Given the description of an element on the screen output the (x, y) to click on. 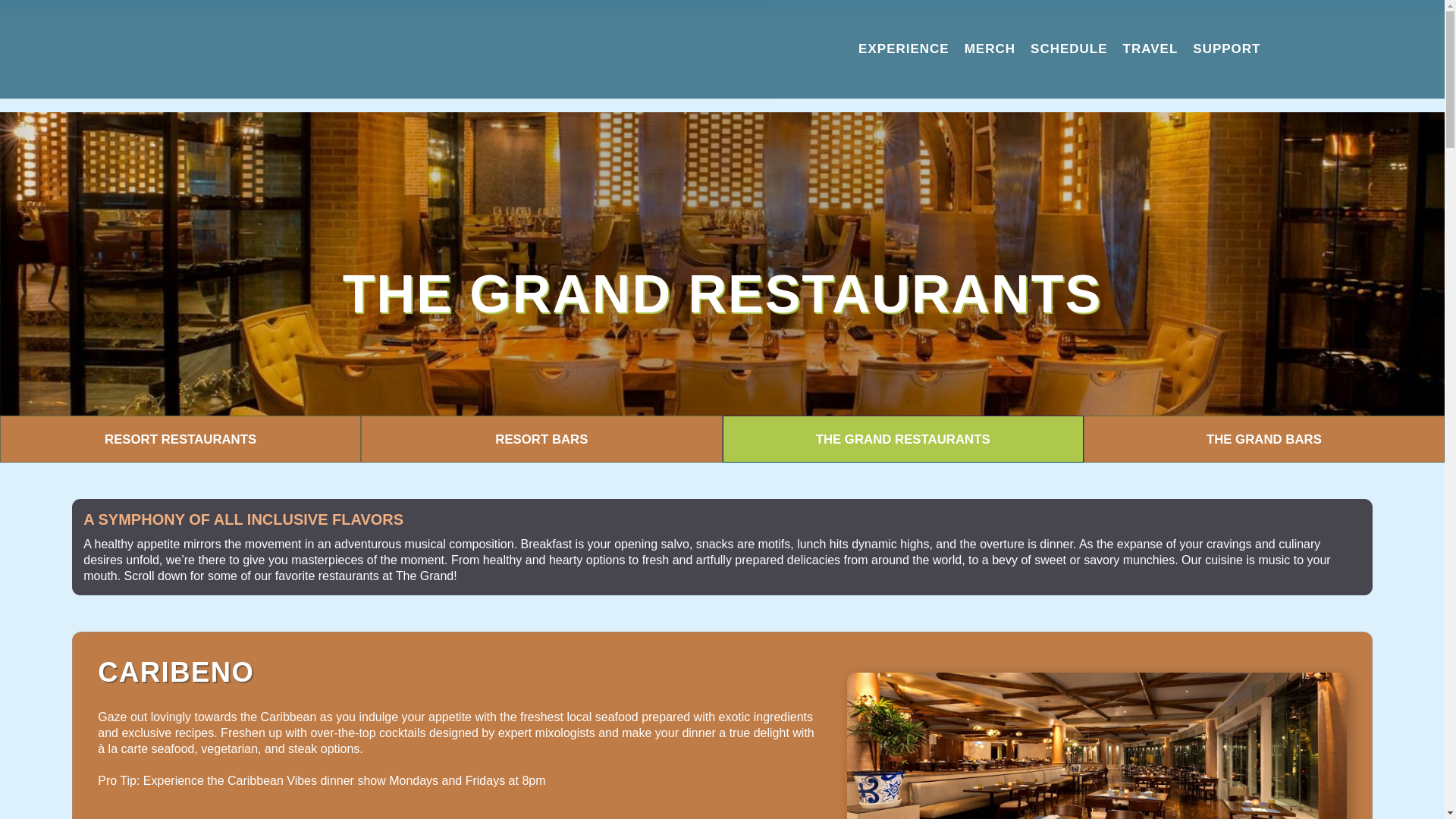
RESORT BARS (541, 438)
MERCH (989, 48)
SUPPORT (1226, 48)
SCHEDULE (1069, 48)
EXPERIENCE (903, 48)
RESORT RESTAURANTS (180, 438)
THE GRAND RESTAURANTS (902, 438)
TRAVEL (1150, 48)
